Given the description of an element on the screen output the (x, y) to click on. 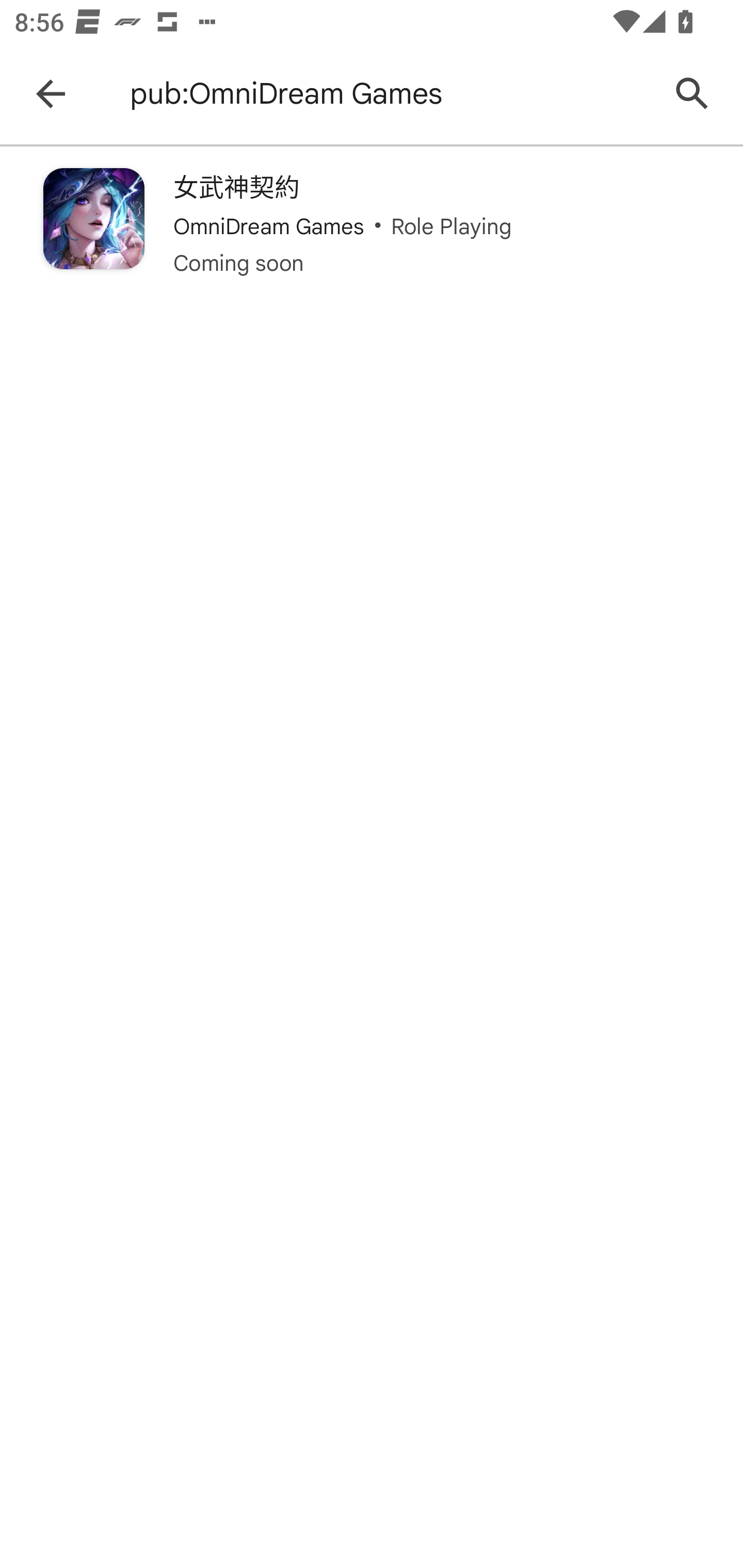
pub:OmniDream Games (389, 93)
Navigate up (50, 93)
Search Google Play (692, 93)
女武神契約
OmniDream Games
Role Playing
Coming soon
 (371, 223)
